Given the description of an element on the screen output the (x, y) to click on. 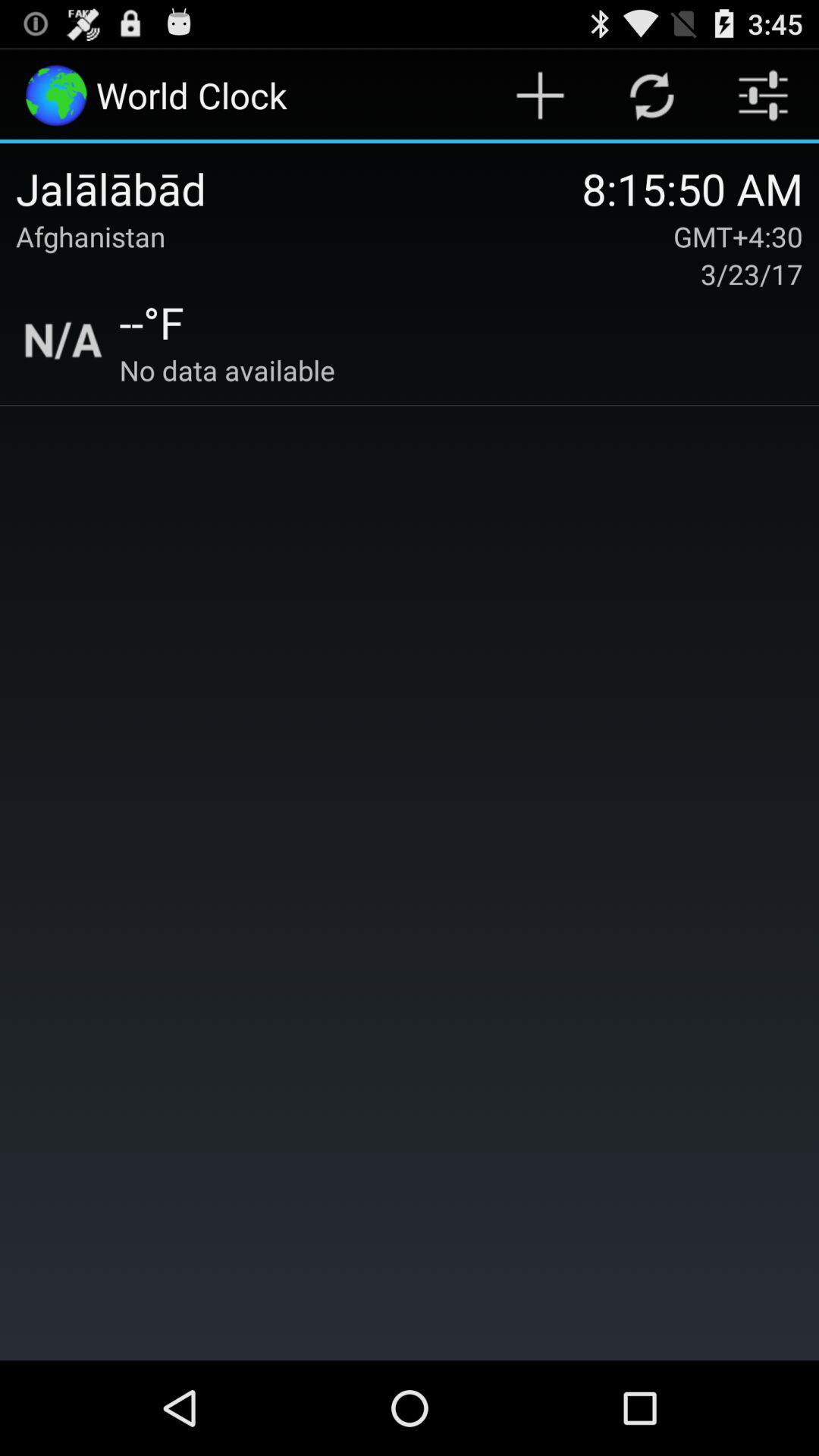
open gmt+4:30 item (738, 236)
